Given the description of an element on the screen output the (x, y) to click on. 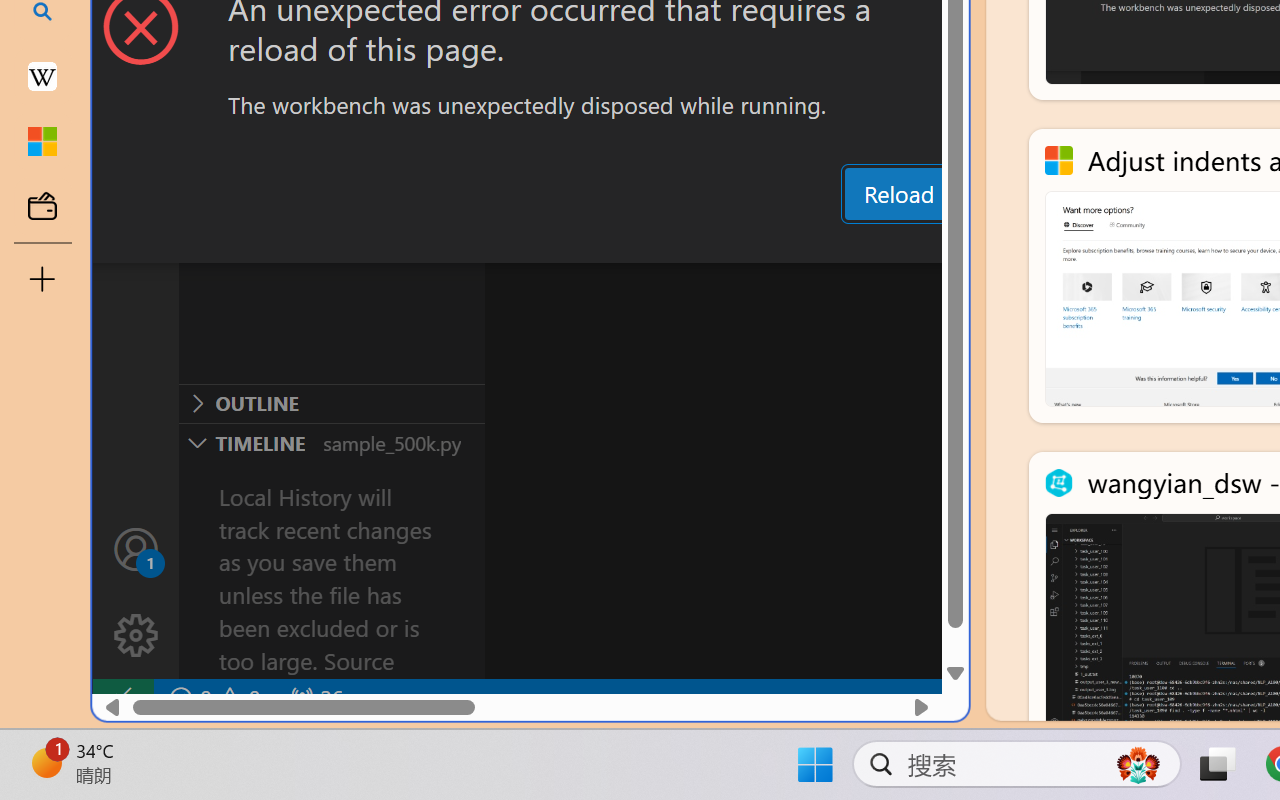
Accounts - Sign in requested (135, 548)
Problems (Ctrl+Shift+M) (567, 243)
Terminal (Ctrl+`) (1021, 243)
